Given the description of an element on the screen output the (x, y) to click on. 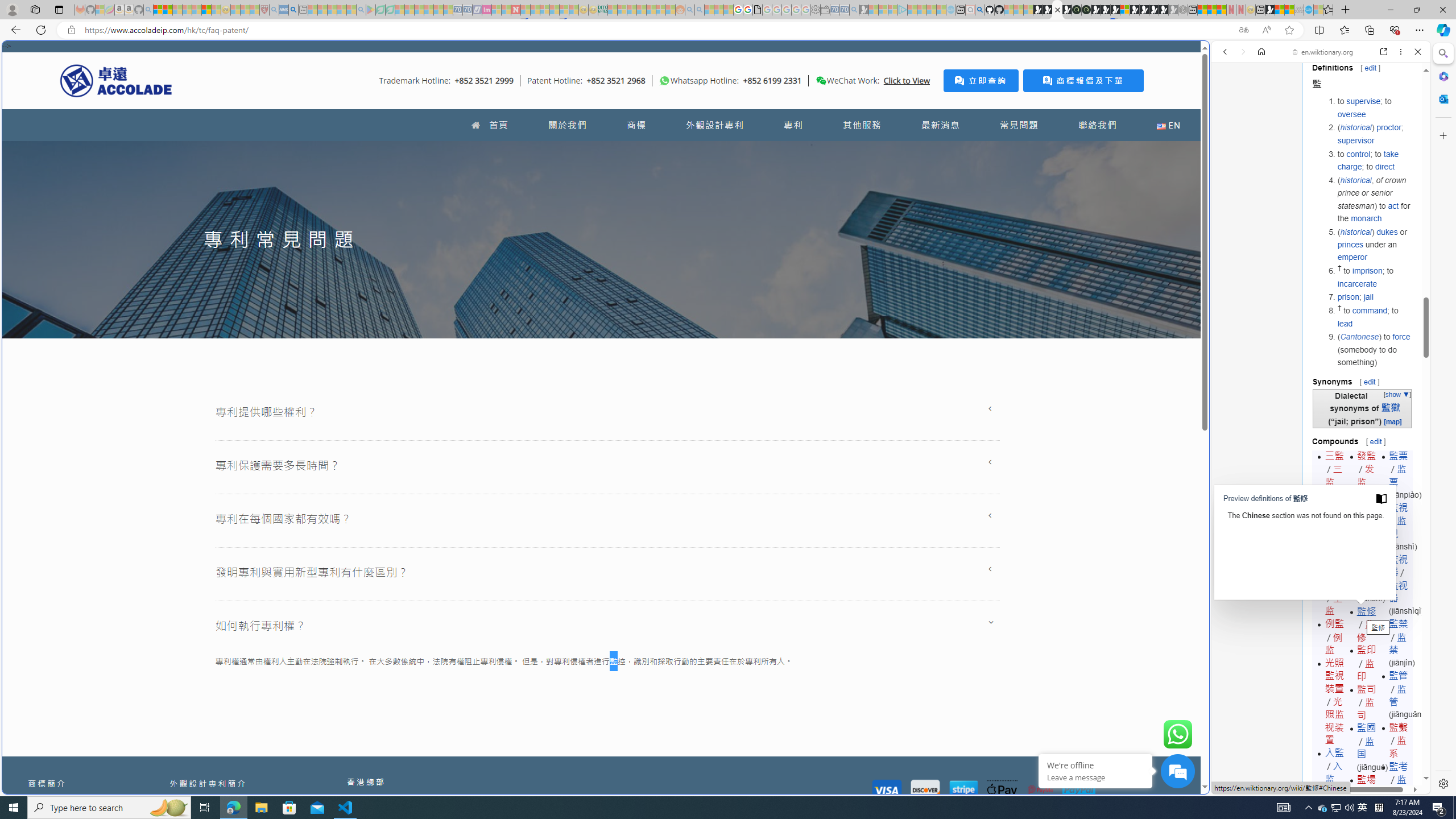
list of asthma inhalers uk - Search - Sleeping (273, 9)
Latest Politics News & Archive | Newsweek.com - Sleeping (515, 9)
New tab (727, 683)
Frequently visited (965, 151)
Robert H. Shmerling, MD - Harvard Health - Sleeping (263, 9)
